Given the description of an element on the screen output the (x, y) to click on. 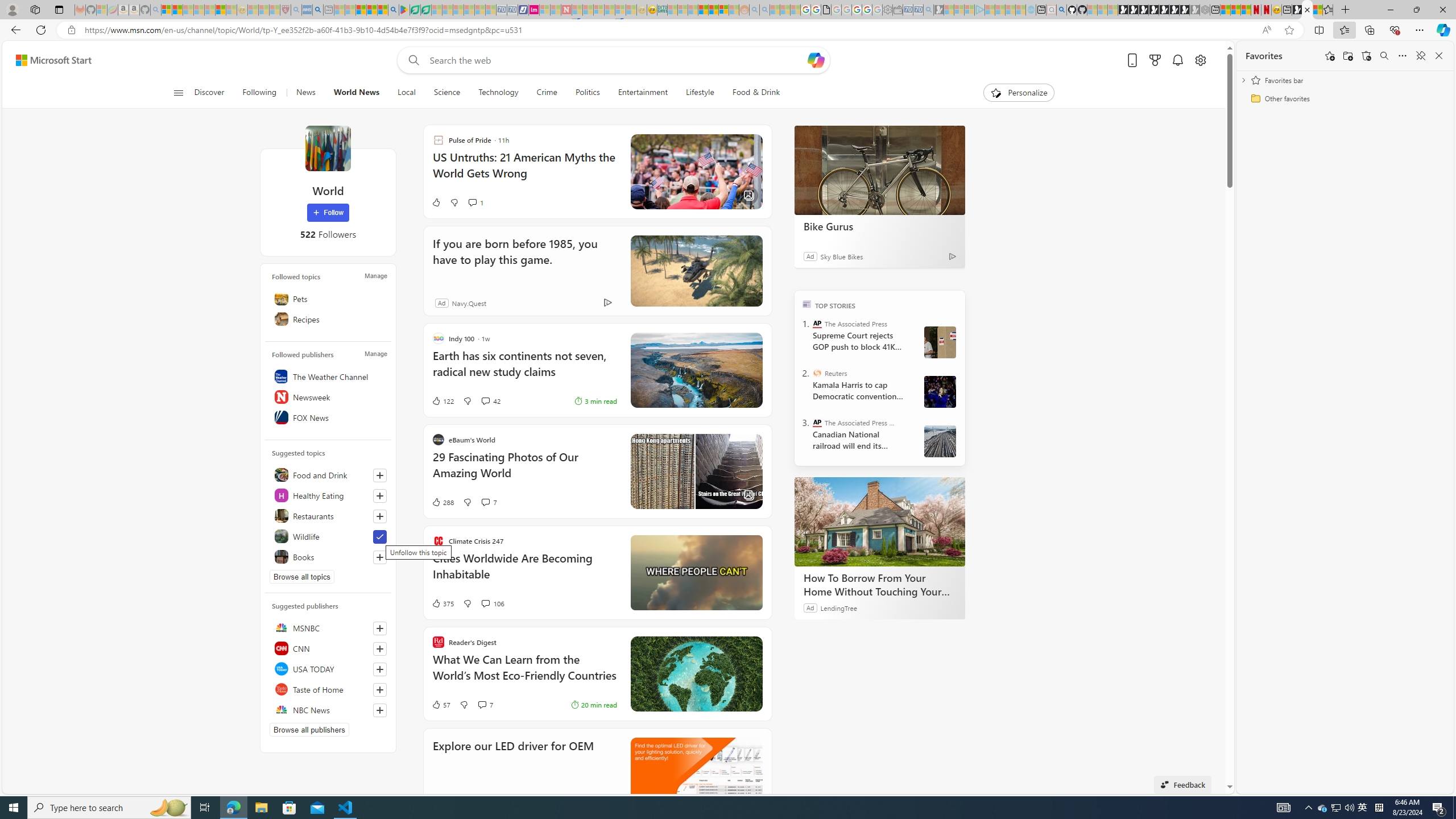
eBaum's World29 Fascinating Photos of Our Amazing World288 (596, 471)
NBC News (327, 709)
View comments 106 Comment (492, 603)
Wildlife (327, 536)
